Given the description of an element on the screen output the (x, y) to click on. 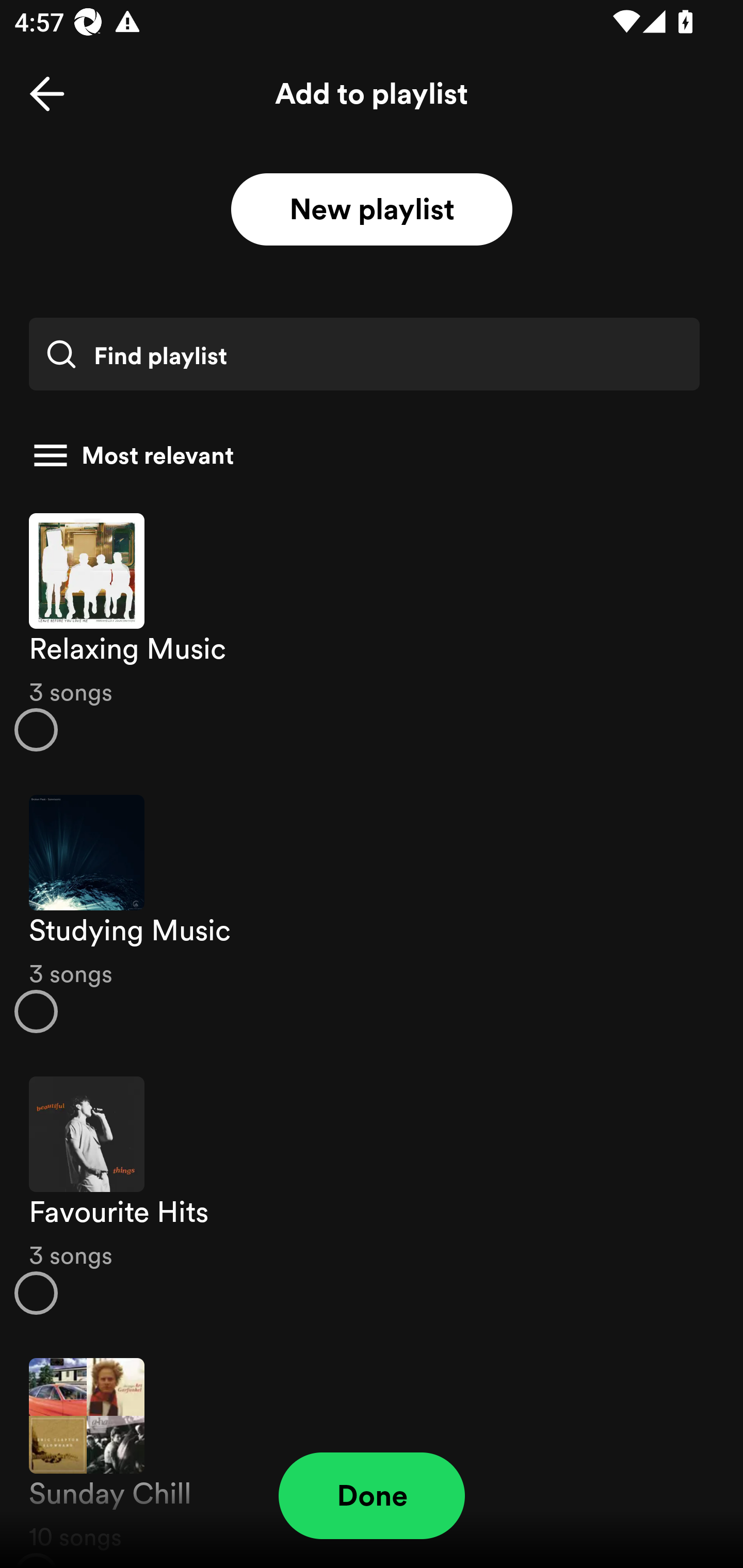
Back (46, 93)
New playlist (371, 210)
Find playlist (363, 354)
Most relevant (363, 455)
Relaxing Music 3 songs (371, 631)
Studying Music 3 songs (371, 914)
Favourite Hits 3 songs (371, 1195)
Sunday Chill 10 songs (371, 1451)
Done (371, 1495)
